Given the description of an element on the screen output the (x, y) to click on. 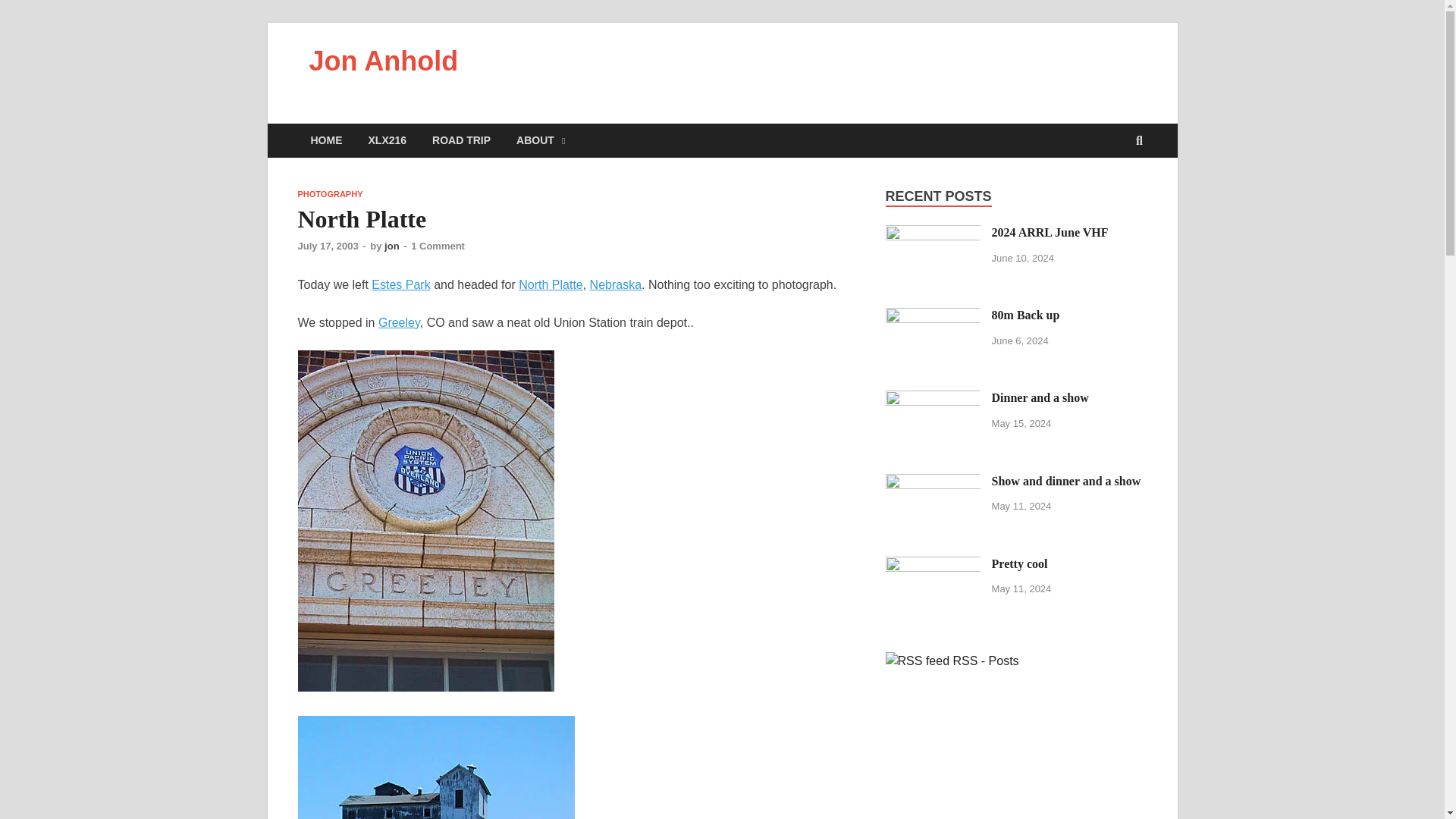
Estes Park (400, 284)
Pretty cool (1019, 563)
Greeley (399, 322)
Show and dinner and a show (1066, 481)
ABOUT (540, 140)
Subscribe to posts (952, 660)
2024 ARRL June VHF (1049, 232)
Nebraska (615, 284)
Dinner and a show (932, 399)
jon (391, 245)
